Given the description of an element on the screen output the (x, y) to click on. 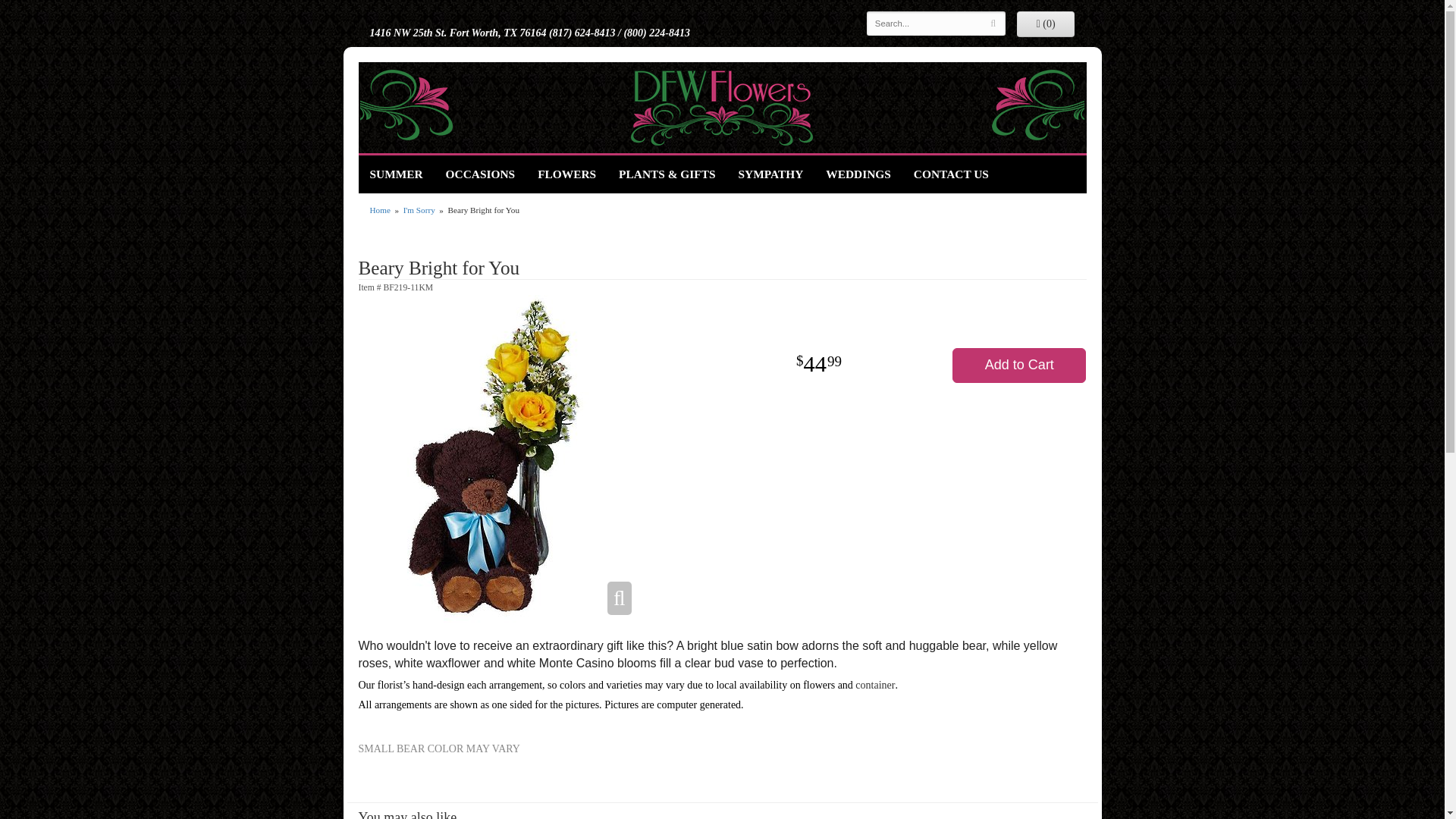
DFW Flowers (721, 107)
FLOWERS (566, 174)
SYMPATHY (770, 174)
OCCASIONS (480, 174)
SUMMER (395, 174)
